Given the description of an element on the screen output the (x, y) to click on. 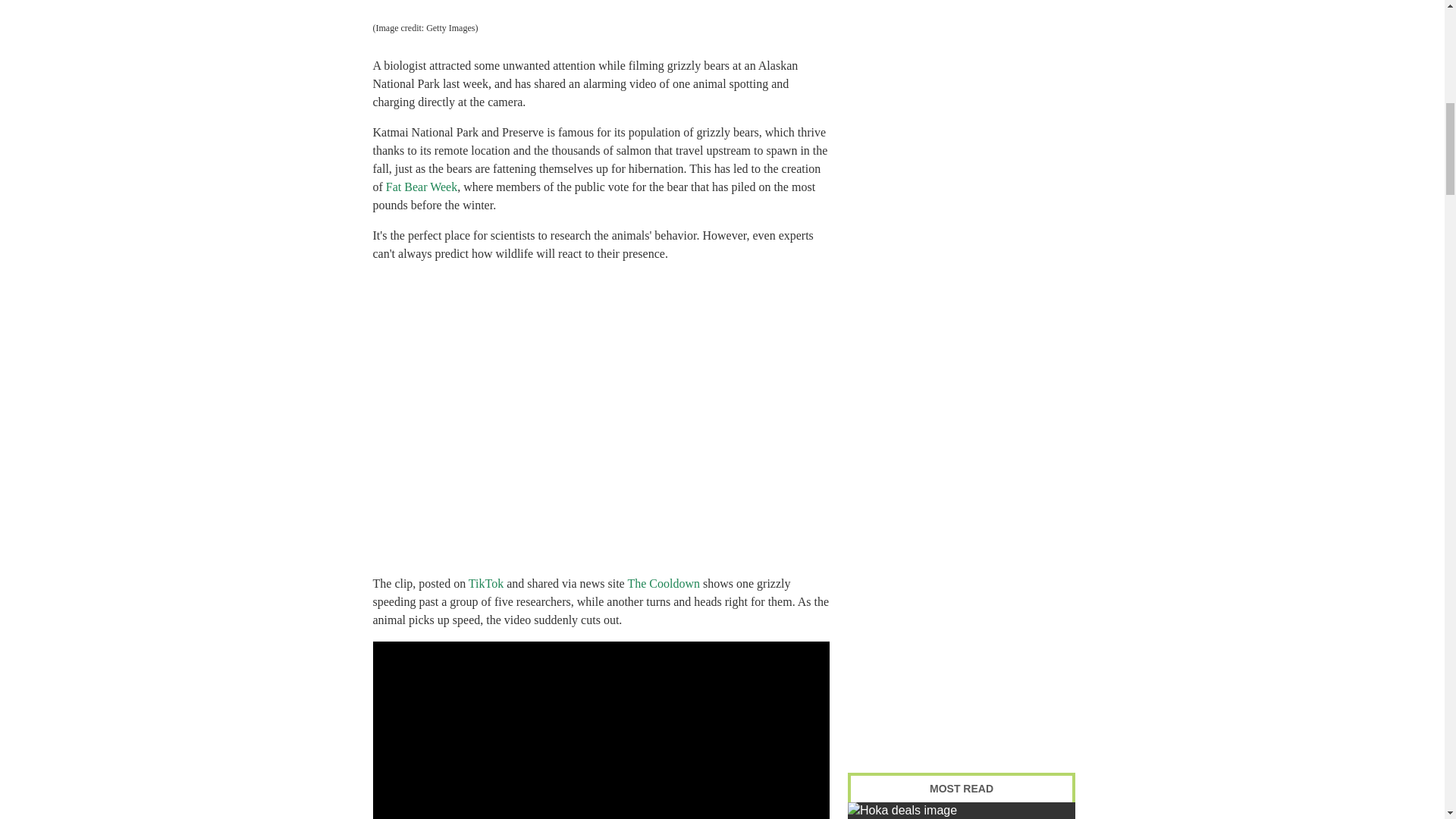
The Cooldown (663, 583)
TikTok (485, 583)
Fat Bear Week (421, 186)
